Given the description of an element on the screen output the (x, y) to click on. 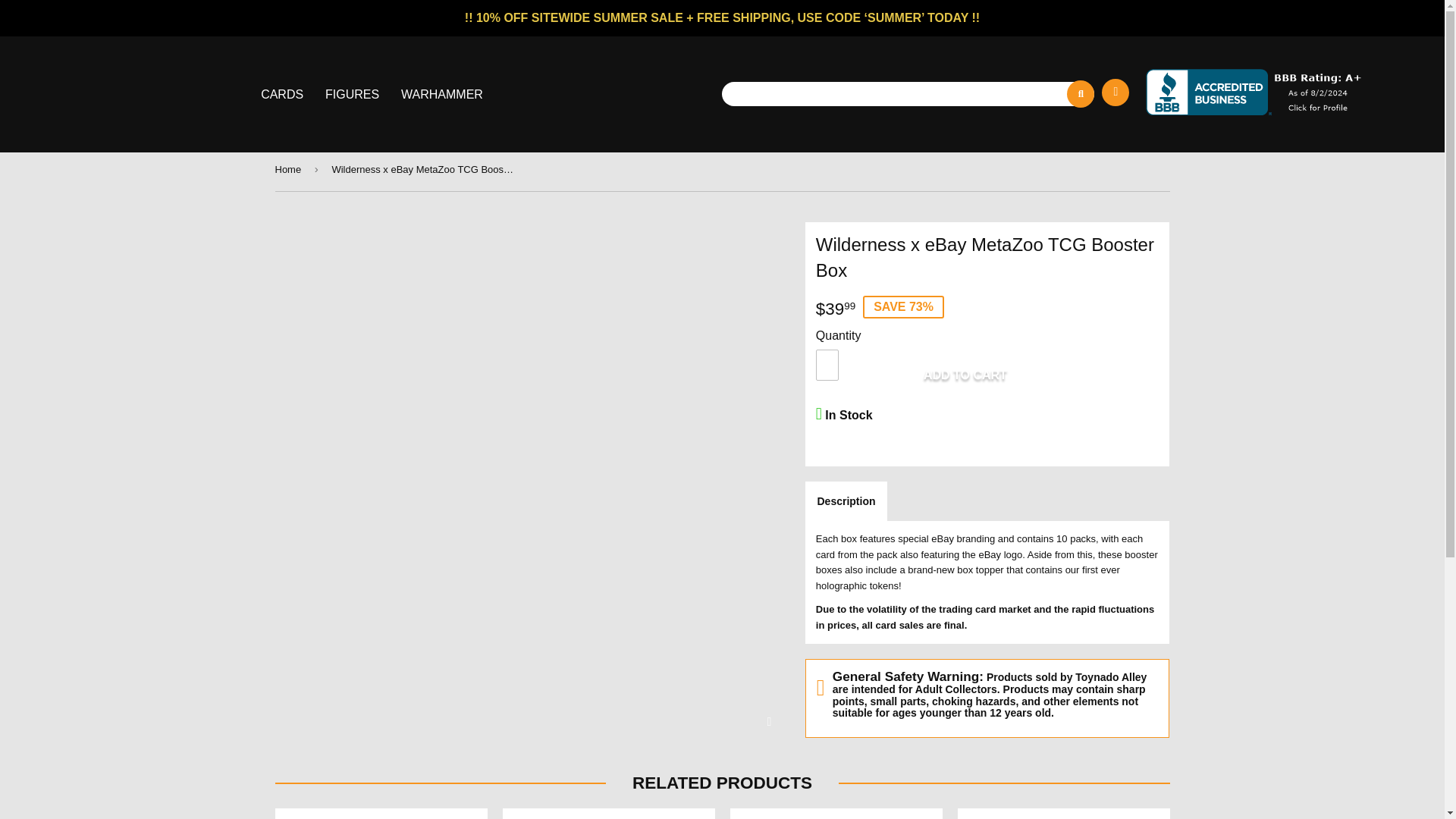
Back to the frontpage (290, 169)
WARHAMMER (441, 94)
CARDS (283, 94)
FIGURES (353, 94)
